Given the description of an element on the screen output the (x, y) to click on. 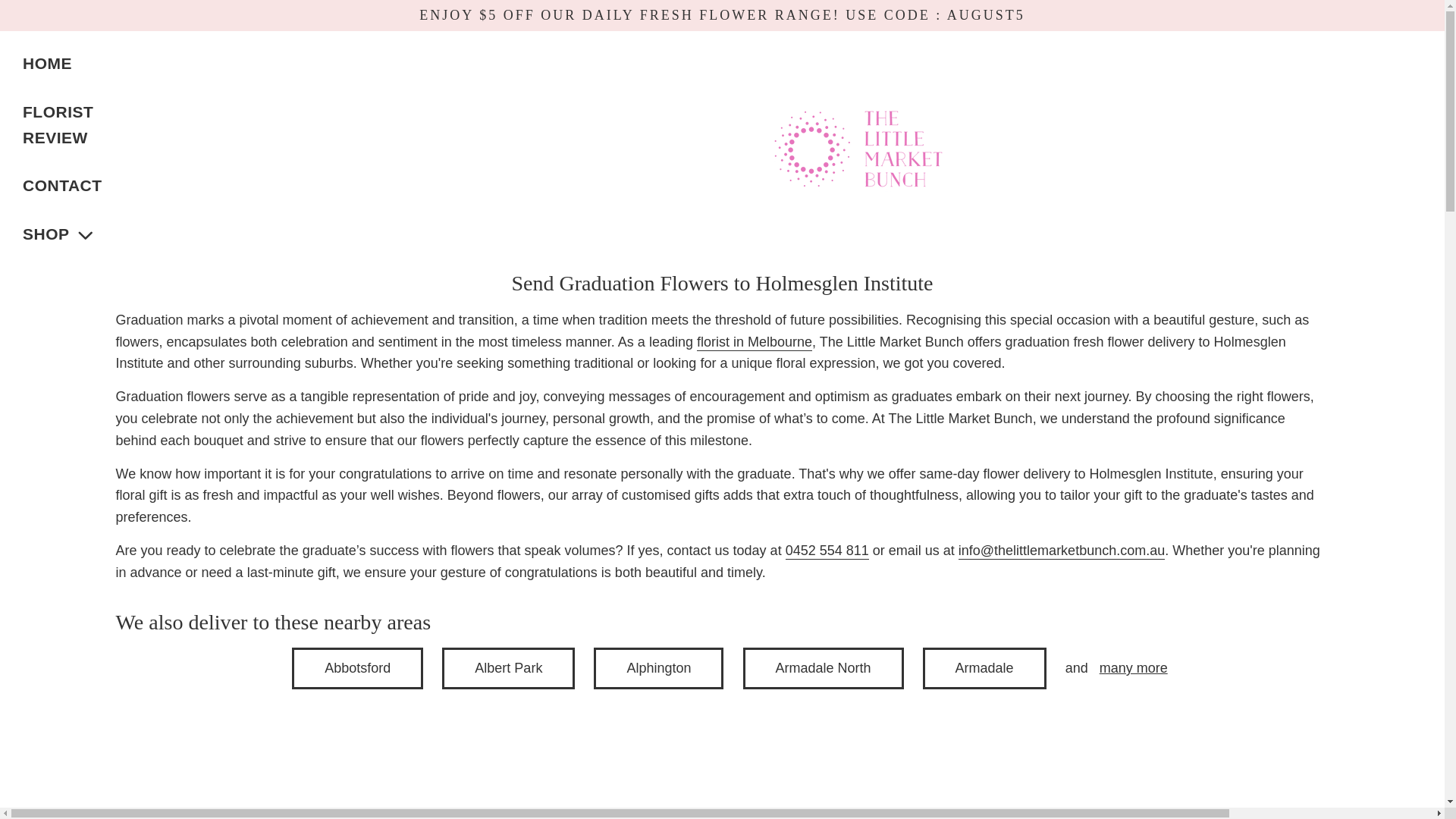
CONTACT (62, 185)
SHOP (59, 233)
HOME (46, 63)
FLORIST REVIEW (62, 124)
